Given the description of an element on the screen output the (x, y) to click on. 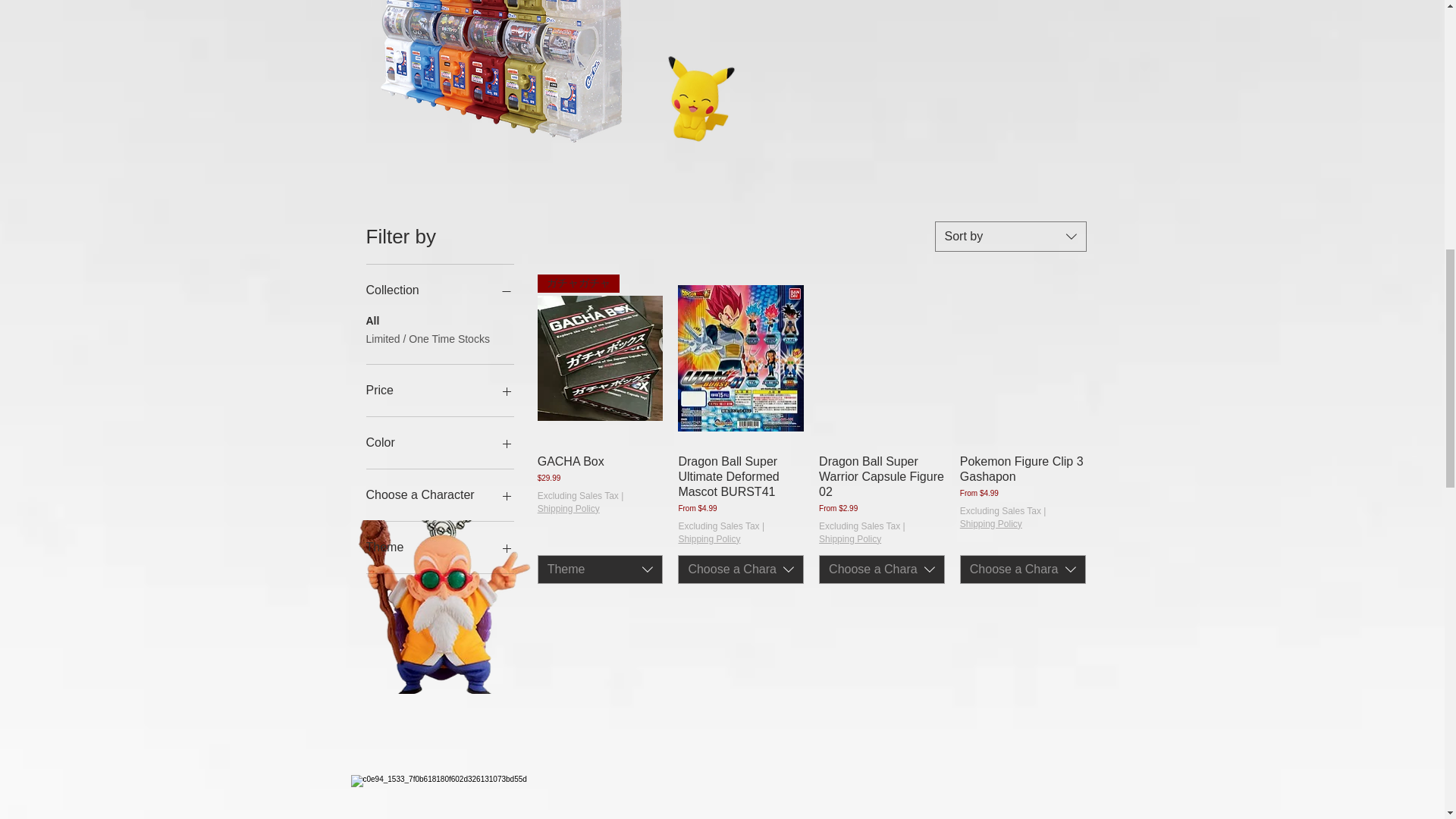
Collection (439, 290)
Price (439, 390)
Choose a Character (740, 569)
Theme (600, 569)
Sort by (1010, 236)
Color (439, 442)
Shipping Policy (708, 539)
Choose a Character (439, 495)
